Given the description of an element on the screen output the (x, y) to click on. 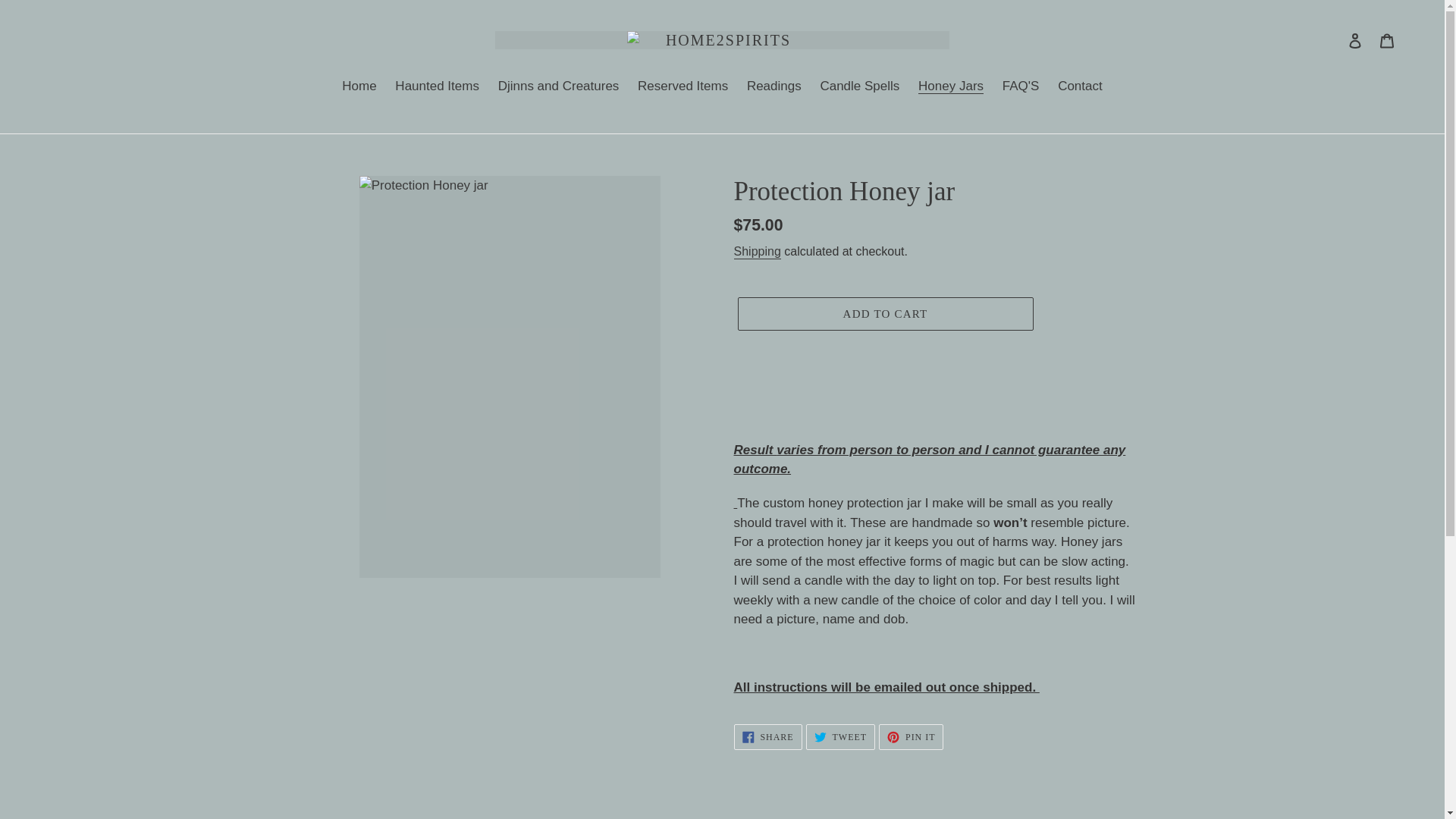
Log in (840, 736)
Reserved Items (1355, 39)
Djinns and Creatures (682, 86)
Contact (558, 86)
Search (1079, 86)
Candle Spells (436, 86)
Honey Jars (859, 86)
Readings (951, 86)
